Given the description of an element on the screen output the (x, y) to click on. 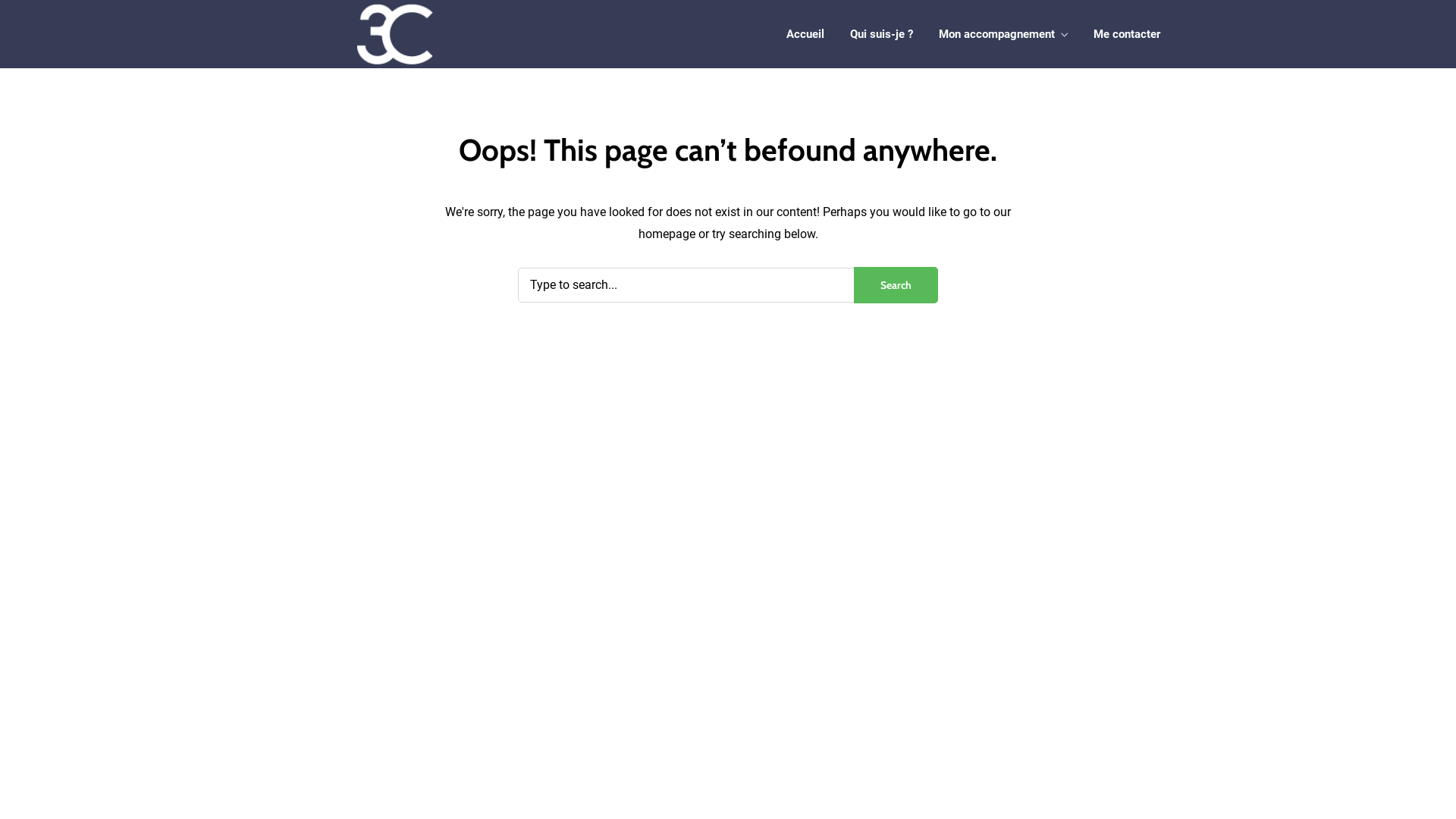
Qui suis-je ? Element type: text (881, 34)
Mon accompagnement Element type: text (1002, 35)
Me contacter Element type: text (1126, 34)
Search Element type: text (895, 284)
Accueil Element type: text (805, 34)
